Given the description of an element on the screen output the (x, y) to click on. 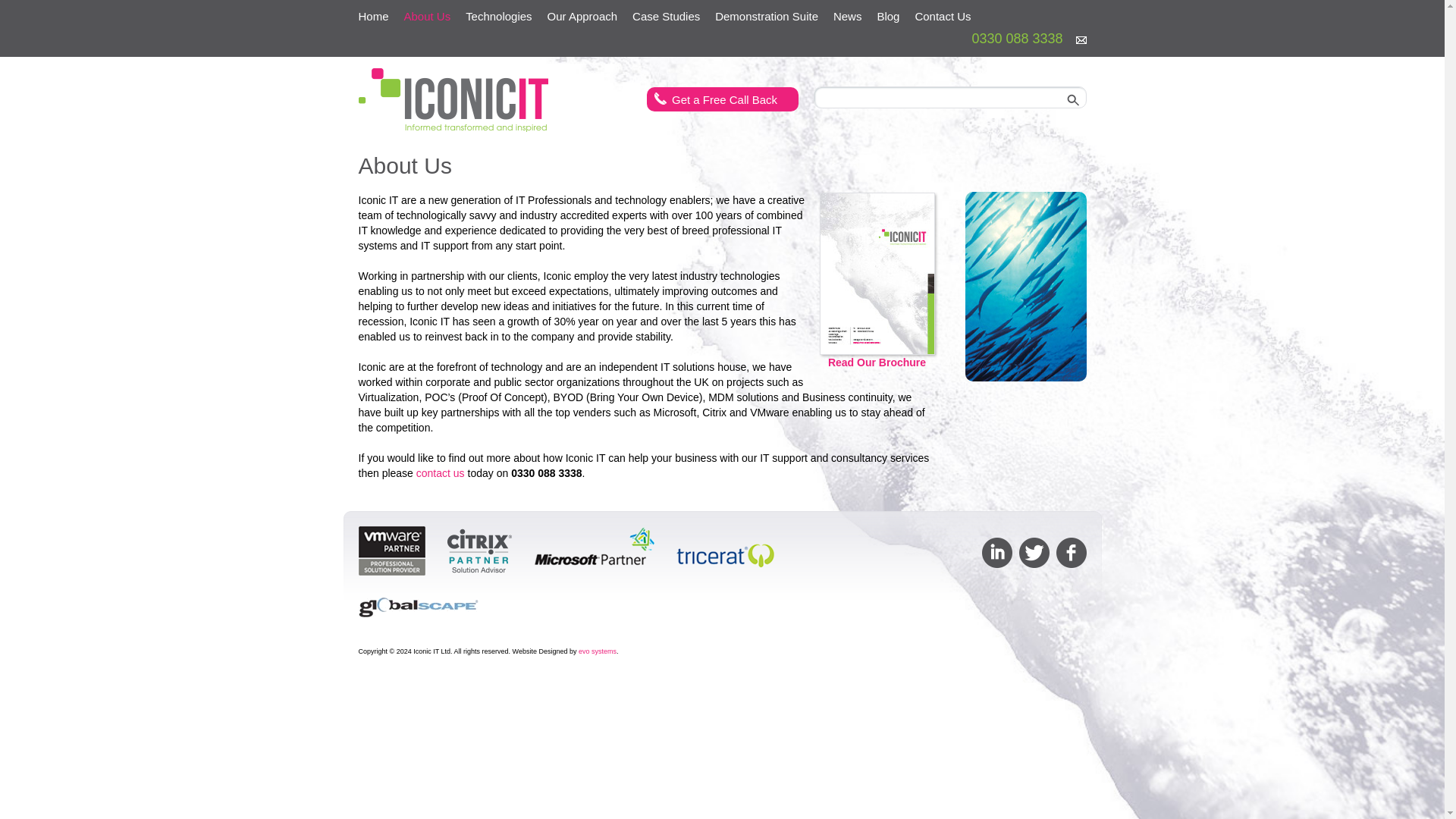
Get a Free Call Back (721, 98)
Read Our Brochure (876, 317)
Our Approach (582, 15)
evo systems (596, 651)
Contact Us (942, 15)
contact us (440, 472)
Blog (888, 15)
News (847, 15)
About Us (427, 15)
Demonstration Suite (766, 15)
Home (373, 15)
Case Studies (665, 15)
Website Designed by evo (596, 651)
